Given the description of an element on the screen output the (x, y) to click on. 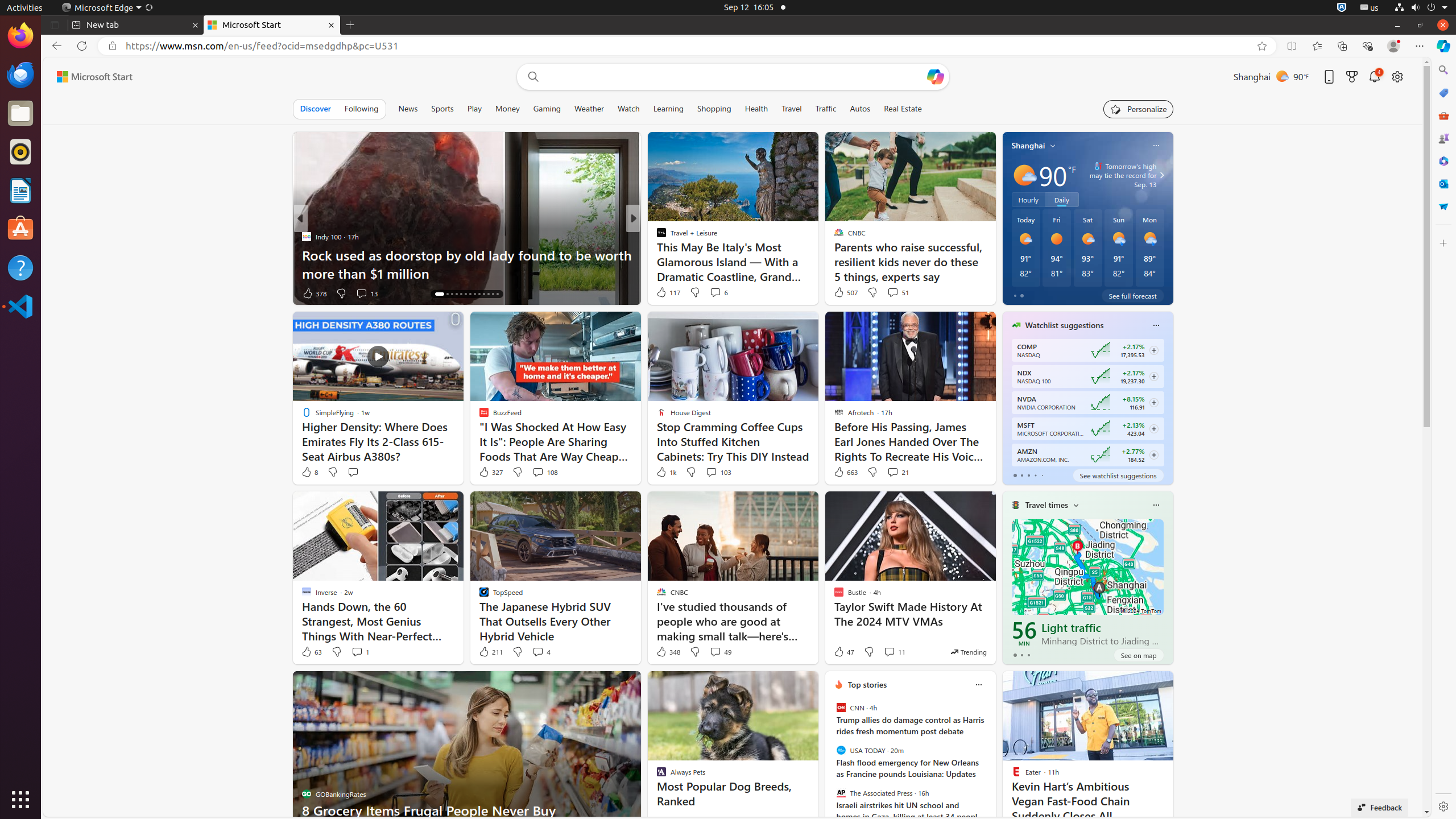
View comments 37 Comment Element type: push-button (711, 293)
tab-0 Element type: page-tab (1014, 655)
Autos Element type: link (859, 108)
328 Like Element type: toggle-button (664, 292)
Microsoft Start Element type: link (94, 76)
